Given the description of an element on the screen output the (x, y) to click on. 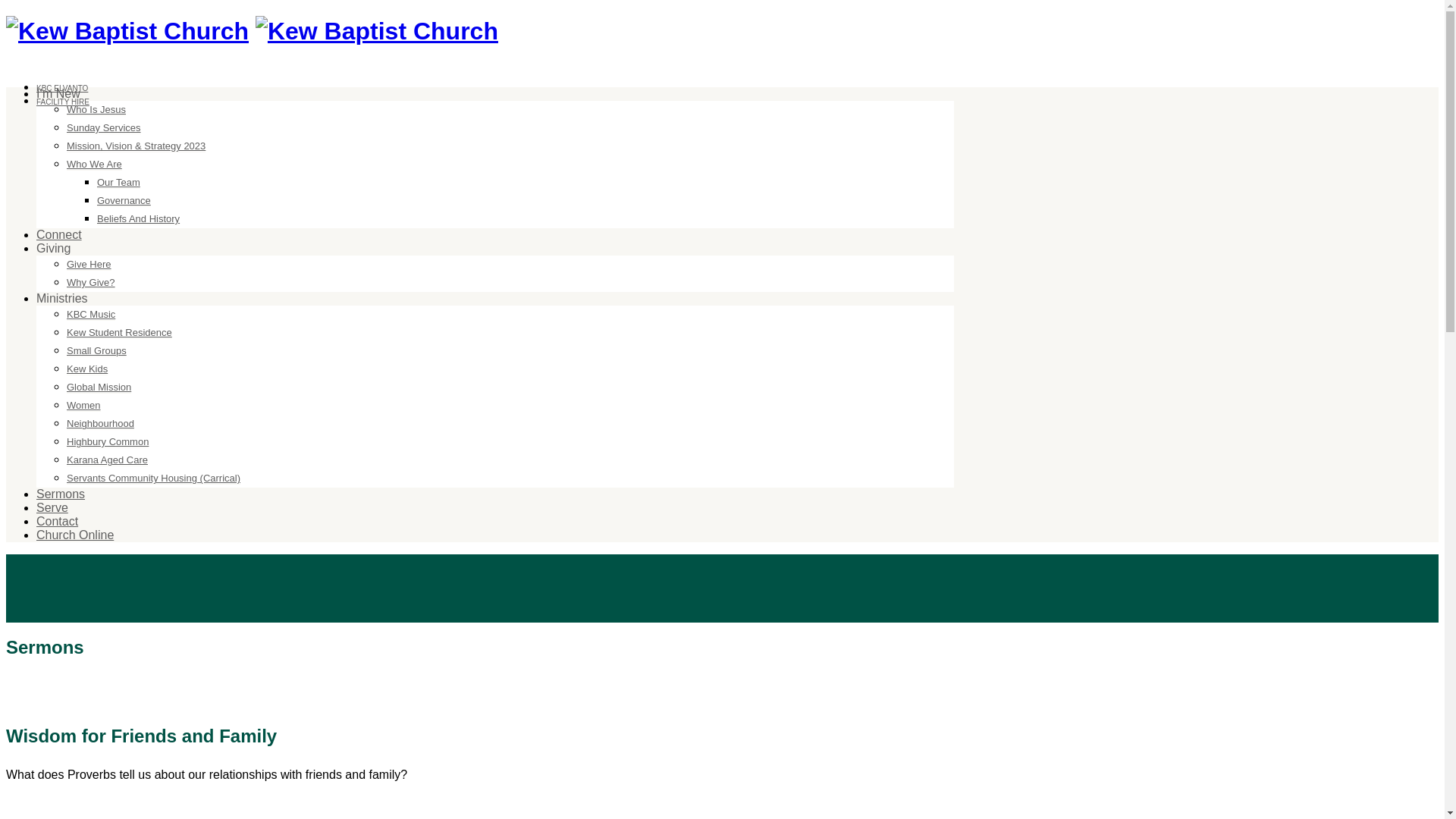
Serve Element type: text (52, 507)
Sunday Services Element type: text (103, 128)
Our Team Element type: text (118, 182)
Servants Community Housing (Carrical) Element type: text (153, 478)
Kew Student Residence Element type: text (119, 332)
Women Element type: text (83, 405)
Highbury Common Element type: text (107, 442)
Give Here Element type: text (88, 264)
Why Give? Element type: text (90, 282)
KBC Music Element type: text (90, 314)
Karana Aged Care Element type: text (106, 460)
Mission, Vision & Strategy 2023 Element type: text (135, 146)
Connect Element type: text (58, 234)
Beliefs And History Element type: text (138, 219)
Sermons Element type: text (60, 493)
Governance Element type: text (123, 200)
Church Online Element type: text (74, 534)
Kew Baptist Church Element type: hover (376, 30)
Global Mission Element type: text (98, 387)
Who Is Jesus Element type: text (95, 109)
KBC ELVANTO Element type: text (61, 88)
FACILITY HIRE Element type: text (62, 101)
Neighbourhood Element type: text (100, 423)
Who We Are Element type: text (94, 164)
Small Groups Element type: text (96, 351)
Kew Kids Element type: text (86, 369)
Contact Element type: text (57, 520)
Giving Element type: text (53, 247)
Kew Baptist Church Element type: hover (127, 30)
Ministries Element type: text (61, 297)
